Given the description of an element on the screen output the (x, y) to click on. 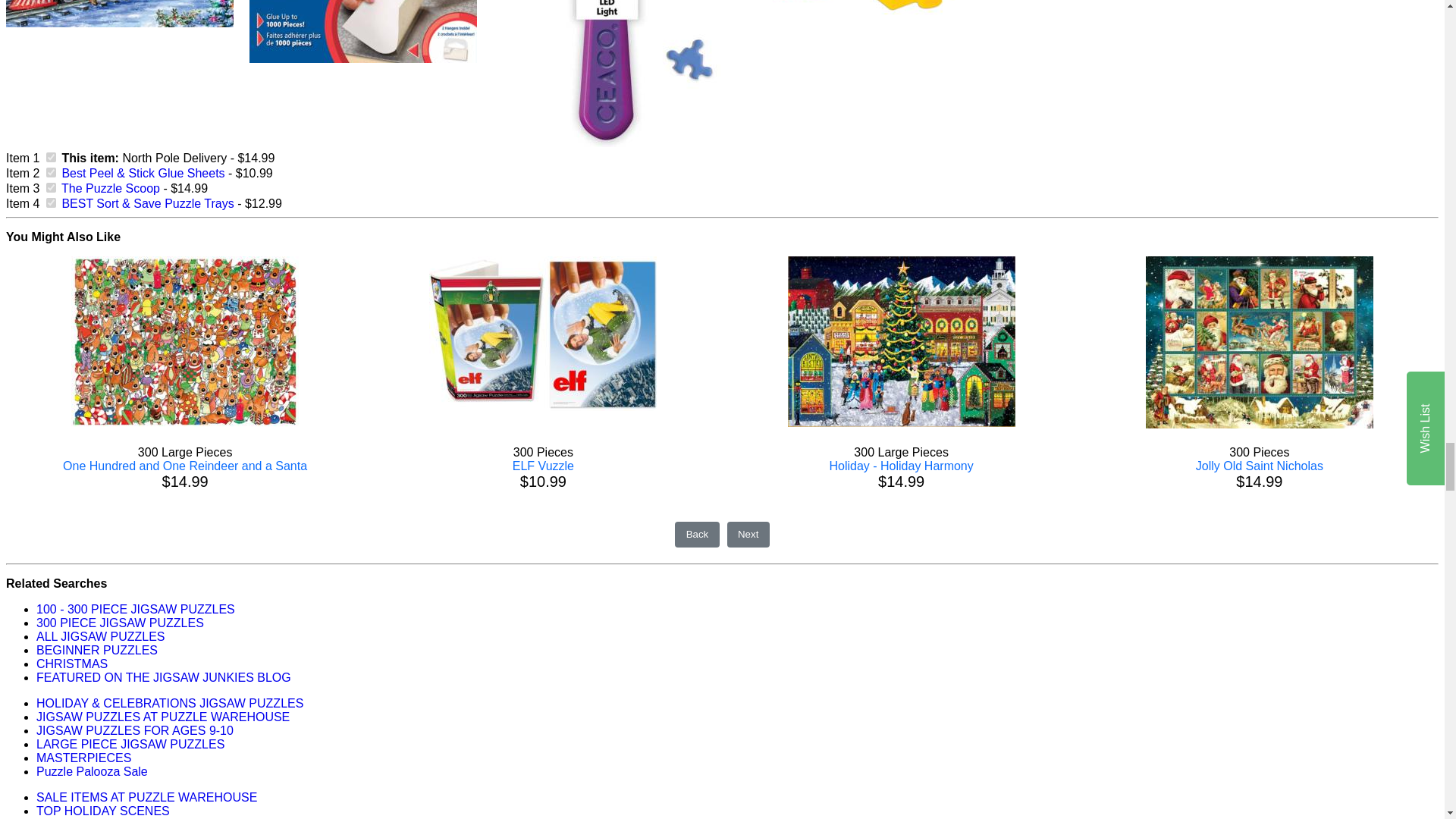
115502 (51, 172)
Jolly Old Saint Nicholas Christmas Jigsaw Puzzle By SunsOut (1259, 342)
145265 (51, 187)
115504 (51, 203)
ELF Vuzzle Christmas Collectible Packaging By Aquarius (542, 333)
132549 (51, 157)
